Given the description of an element on the screen output the (x, y) to click on. 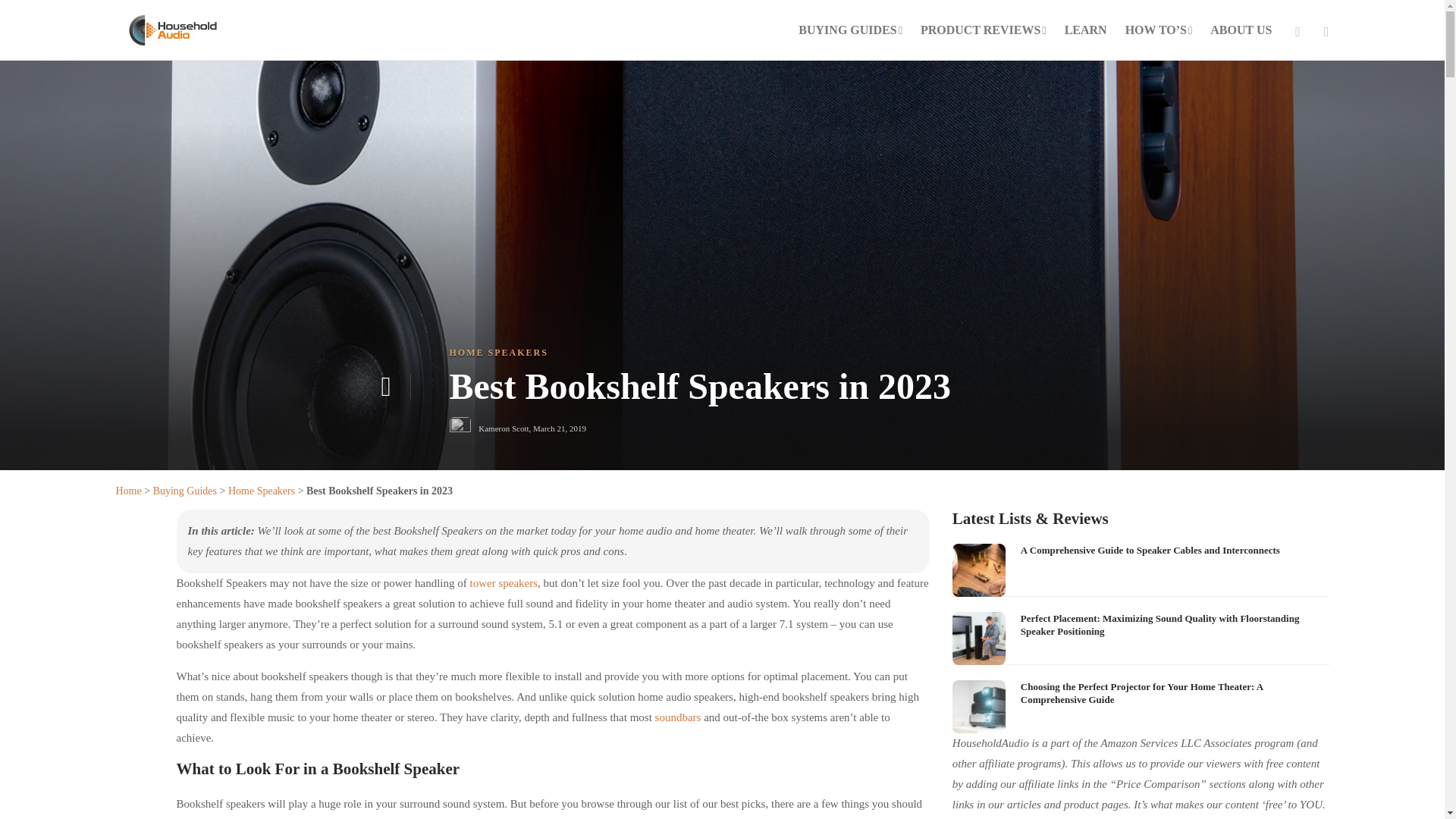
March 21, 2019 (559, 428)
LEARN (1085, 29)
Home (128, 490)
Buying Guides (184, 490)
Home Speakers (261, 490)
PRODUCT REVIEWS (983, 29)
HOME SPEAKERS (497, 352)
BUYING GUIDES (849, 29)
ABOUT US (1240, 29)
soundbars (678, 717)
tower speakers (502, 582)
Kameron Scott (503, 428)
